Given the description of an element on the screen output the (x, y) to click on. 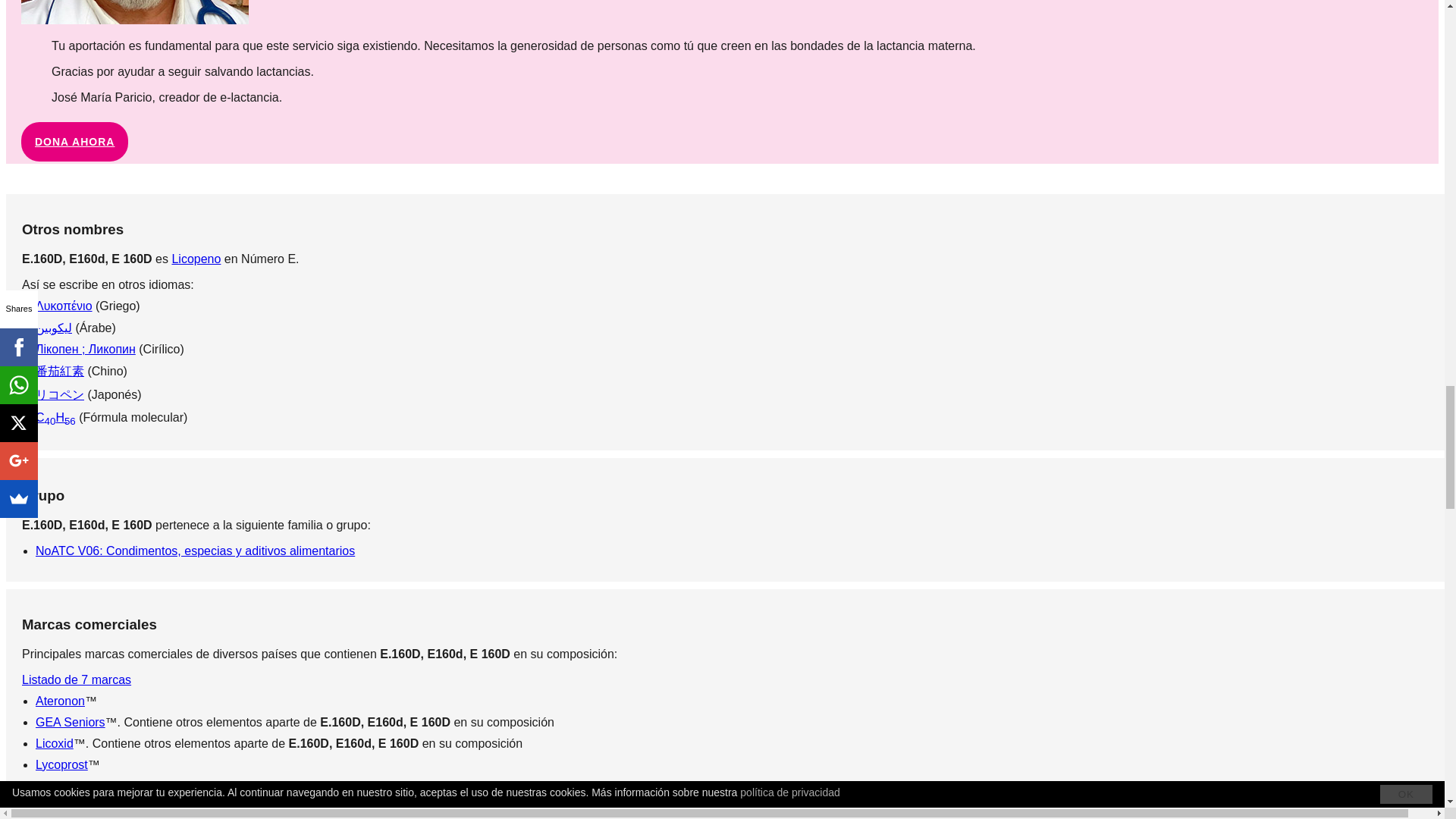
Licoxid (54, 743)
NoATC V06: Condimentos, especias y aditivos alimentarios (194, 550)
DONA AHORA (74, 141)
Licopeno (196, 258)
C40H56 (54, 417)
GEA Seniors (69, 721)
Lycoprost (60, 764)
Ateronon (59, 700)
Listado de 7 marcas (76, 679)
Tomat (51, 785)
Udamin (55, 807)
